Given the description of an element on the screen output the (x, y) to click on. 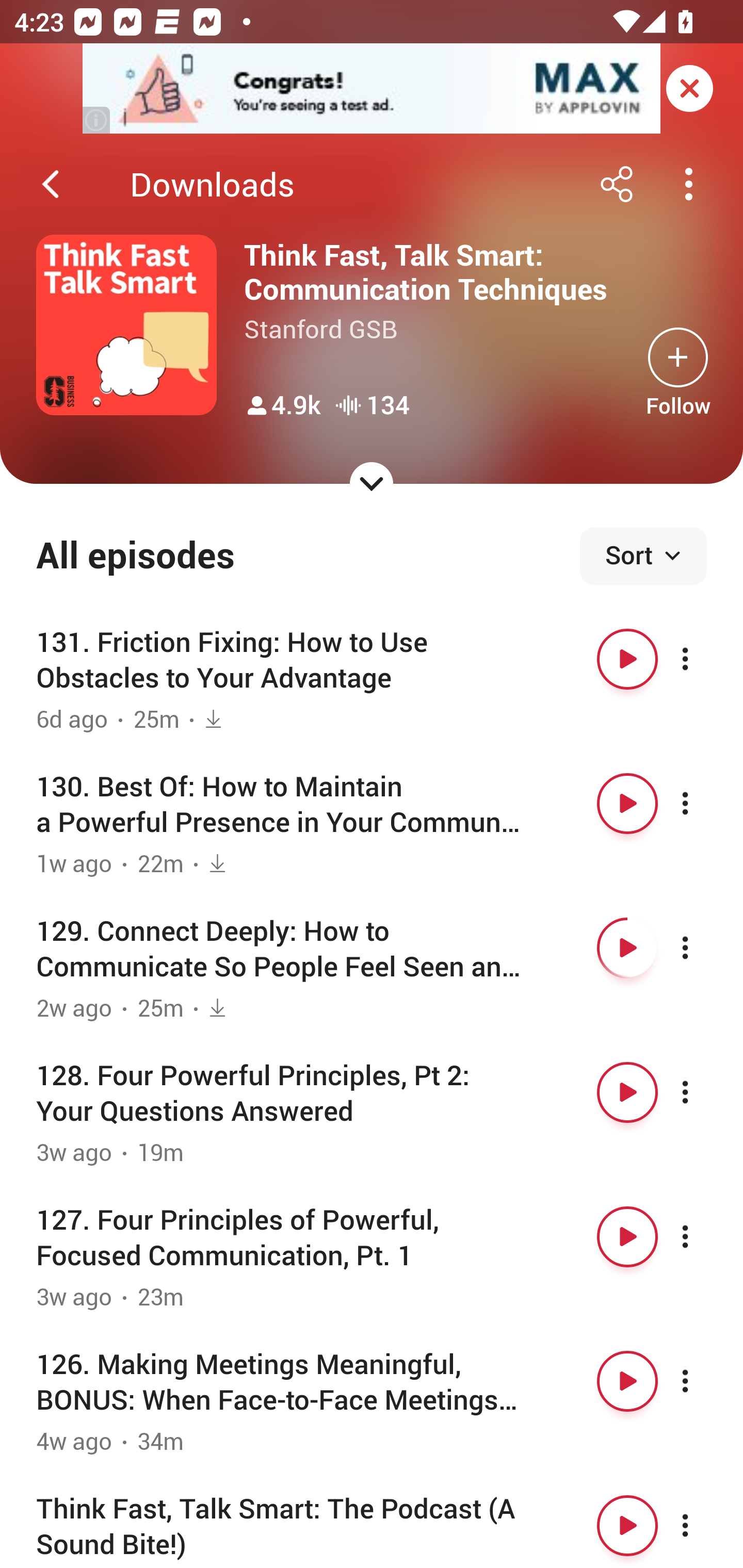
app-monetization (371, 88)
(i) (96, 119)
Back (50, 184)
Subscribe button (677, 357)
Sort episodes Sort (643, 555)
Play button (627, 659)
More options (703, 659)
Play button (627, 803)
More options (703, 803)
Play button (627, 947)
More options (703, 947)
Play button (627, 1092)
More options (703, 1092)
Play button (627, 1236)
More options (703, 1236)
Play button (627, 1381)
More options (703, 1381)
Play button (627, 1525)
More options (703, 1525)
